Given the description of an element on the screen output the (x, y) to click on. 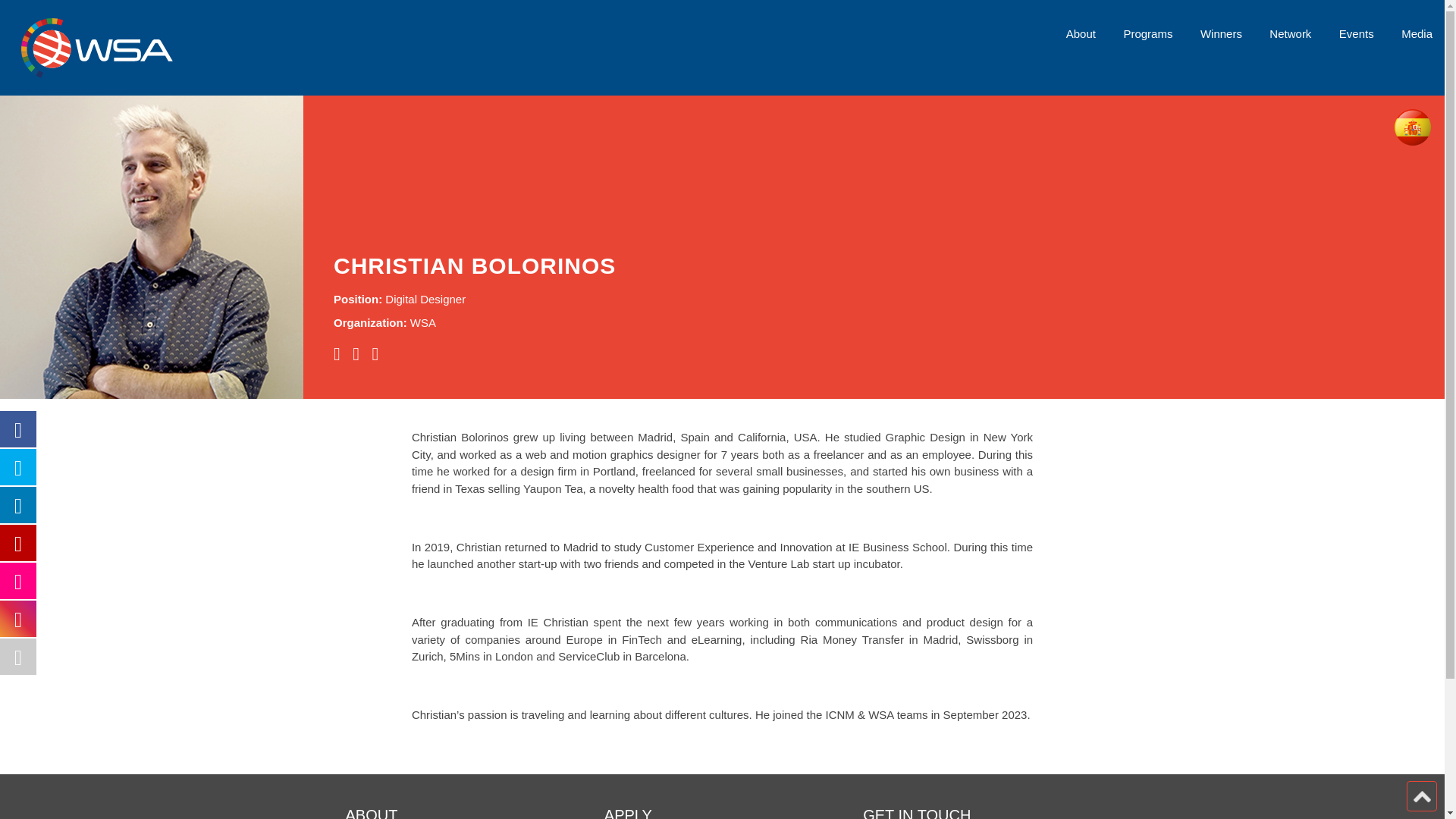
Programs (1147, 33)
About (1081, 33)
Network (1290, 33)
Winners (1220, 33)
